Given the description of an element on the screen output the (x, y) to click on. 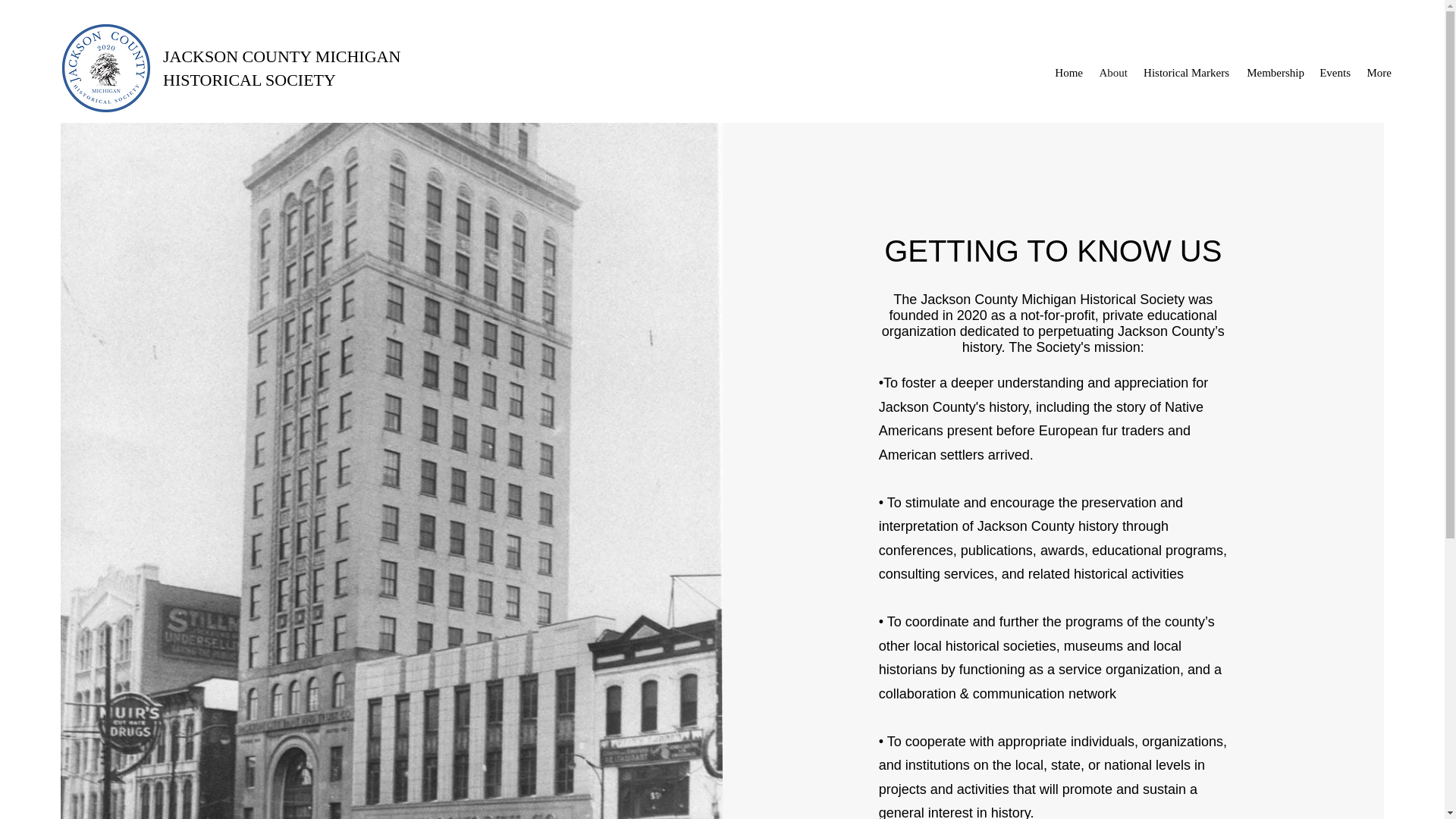
Home (1068, 72)
About (1112, 72)
Events (1334, 72)
JACKSON COUNTY MICHIGAN HISTORICAL SOCIETY (281, 67)
Historical Markers (1185, 72)
Membership (1273, 72)
